Given the description of an element on the screen output the (x, y) to click on. 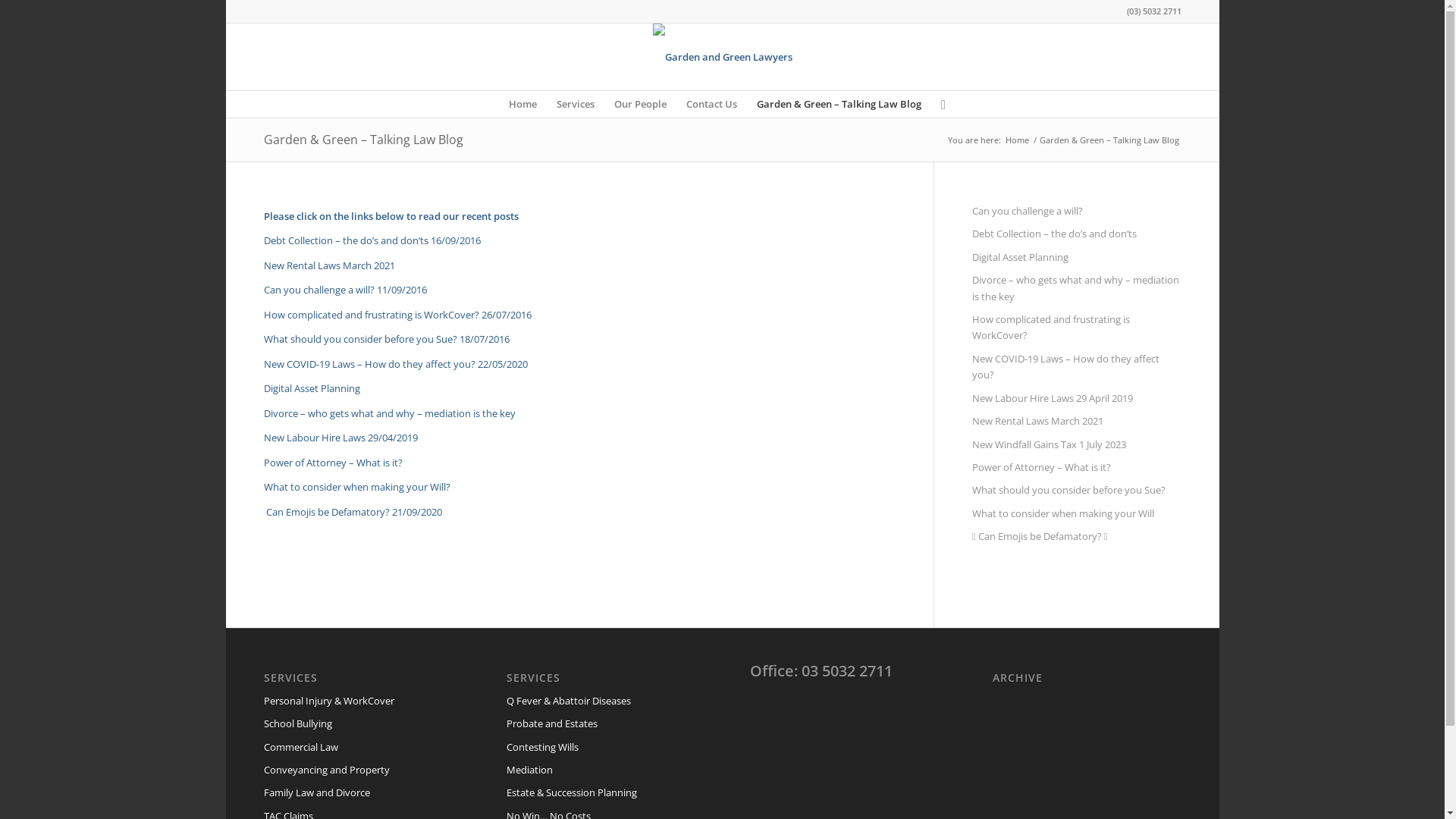
Mediation Element type: text (600, 770)
New Rental Laws March 2021  Element type: text (330, 265)
Contesting Wills Element type: text (600, 747)
How complicated and frustrating is WorkCover? Element type: text (1076, 328)
New Rental Laws March 2021 Element type: text (1076, 421)
Estate & Succession Planning Element type: text (600, 792)
Our People Element type: text (640, 104)
Family Law and Divorce Element type: text (357, 792)
What should you consider before you Sue? 18/07/2016 Element type: text (386, 338)
Conveyancing and Property Element type: text (357, 770)
 Can Emojis be Defamatory? 21/09/2020 Element type: text (352, 511)
Home Element type: text (522, 104)
Digital Asset Planning Element type: text (311, 388)
Contact Us Element type: text (711, 104)
New Labour Hire Laws 29/04/2019 Element type: text (340, 437)
What to consider when making your Will Element type: text (1076, 513)
Can you challenge a will? 11/09/2016 Element type: text (344, 289)
Can you challenge a will? Element type: text (1076, 211)
How complicated and frustrating is WorkCover? 26/07/2016 Element type: text (397, 314)
New Labour Hire Laws 29 April 2019 Element type: text (1076, 398)
New Windfall Gains Tax 1 July 2023 Element type: text (1076, 444)
Q Fever & Abattoir Diseases Element type: text (600, 701)
Personal Injury & WorkCover Element type: text (357, 701)
What to consider when making your Will? Element type: text (356, 486)
Commercial Law Element type: text (357, 747)
Home Element type: text (1016, 139)
Digital Asset Planning Element type: text (1076, 257)
Probate and Estates Element type: text (600, 723)
School Bullying Element type: text (357, 723)
Services Element type: text (575, 104)
What should you consider before you Sue? Element type: text (1076, 490)
